Given the description of an element on the screen output the (x, y) to click on. 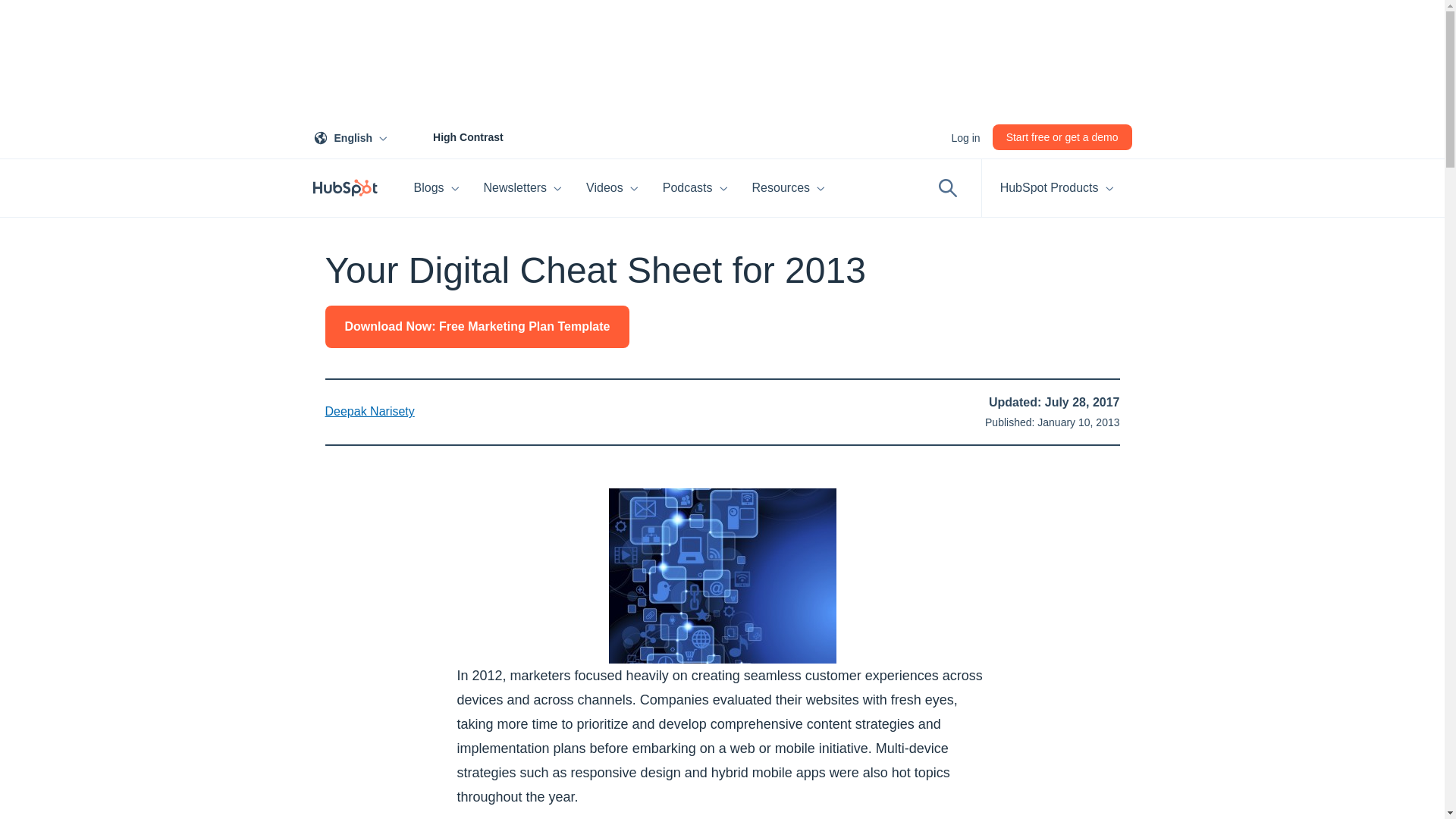
Blogs (436, 187)
digital-cheat-sheet (721, 575)
Videos (611, 187)
Start free or get a demo (353, 136)
Newsletters (1062, 136)
High Contrast (523, 187)
Log in (450, 137)
